Given the description of an element on the screen output the (x, y) to click on. 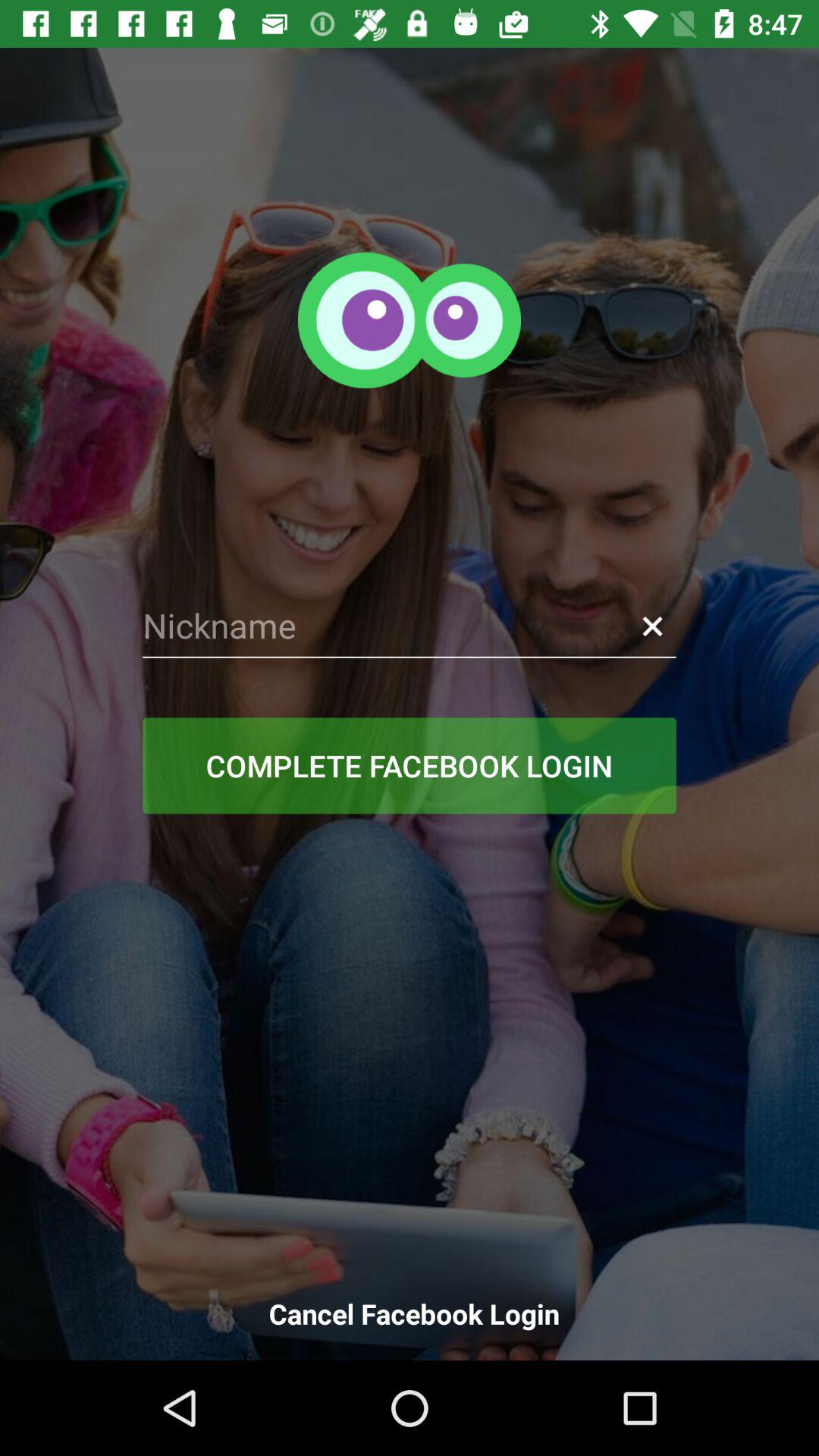
clear the nickname field (652, 626)
